Given the description of an element on the screen output the (x, y) to click on. 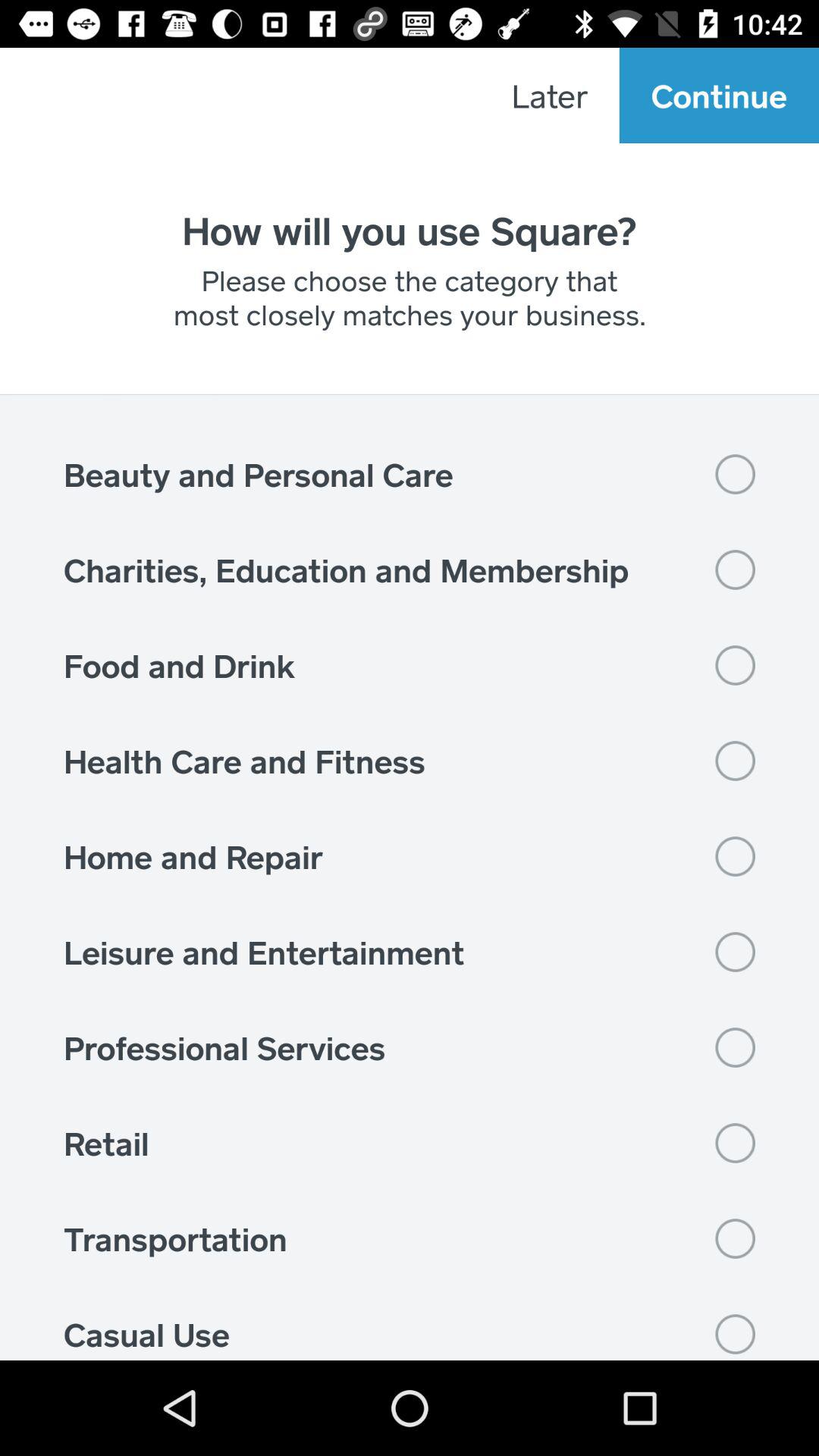
open the leisure and entertainment item (409, 951)
